Given the description of an element on the screen output the (x, y) to click on. 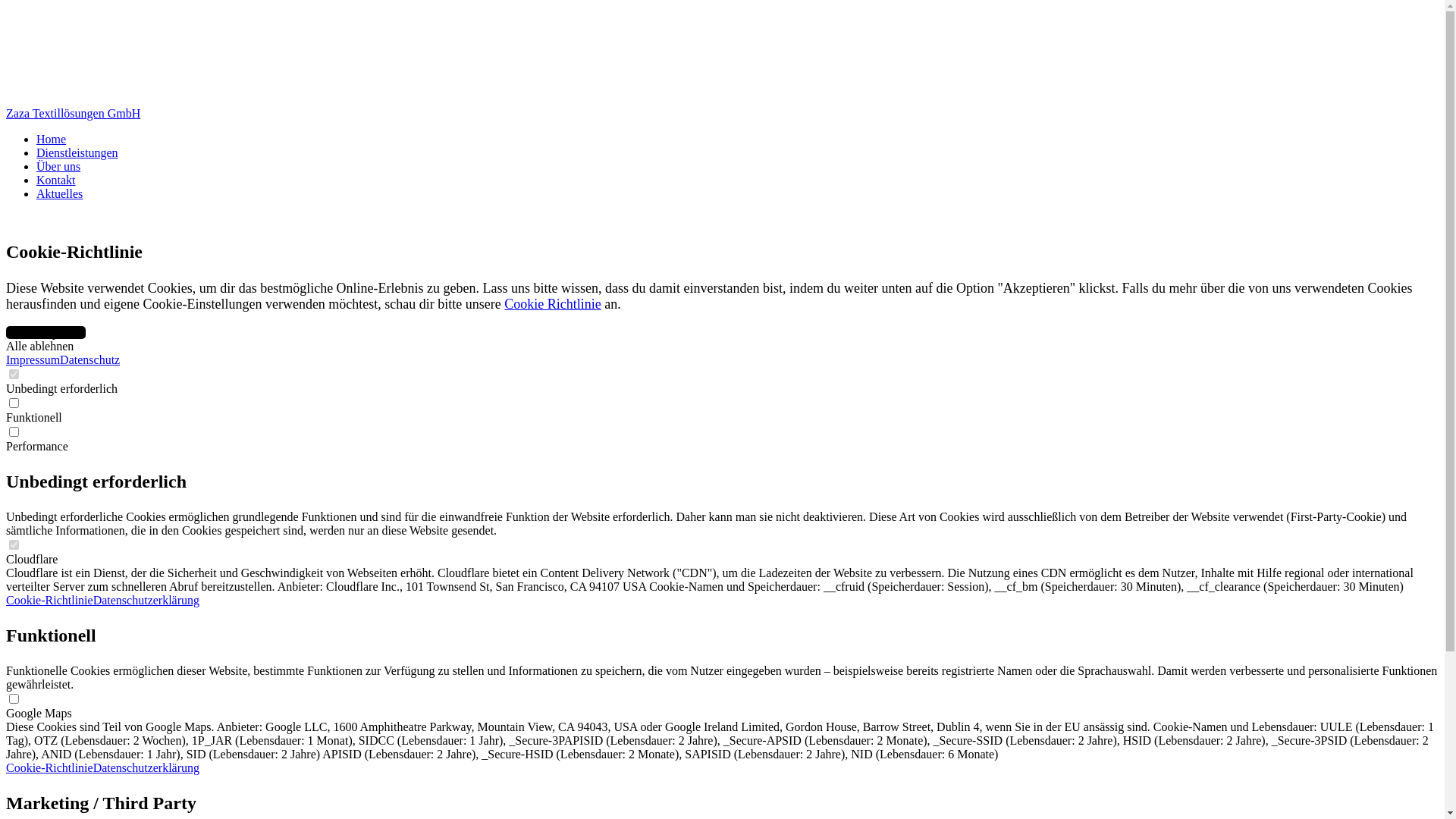
Datenschutz Element type: text (89, 359)
Cookie-Richtlinie Element type: text (49, 767)
Cookie-Richtlinie Element type: text (49, 599)
Dienstleistungen Element type: text (77, 152)
Impressum Element type: text (32, 359)
Home Element type: text (50, 138)
Cookie Richtlinie Element type: text (552, 303)
Alle akzeptieren Element type: text (45, 332)
Aktuelles Element type: text (59, 193)
Alle ablehnen Element type: text (39, 345)
Kontakt Element type: text (55, 179)
